Given the description of an element on the screen output the (x, y) to click on. 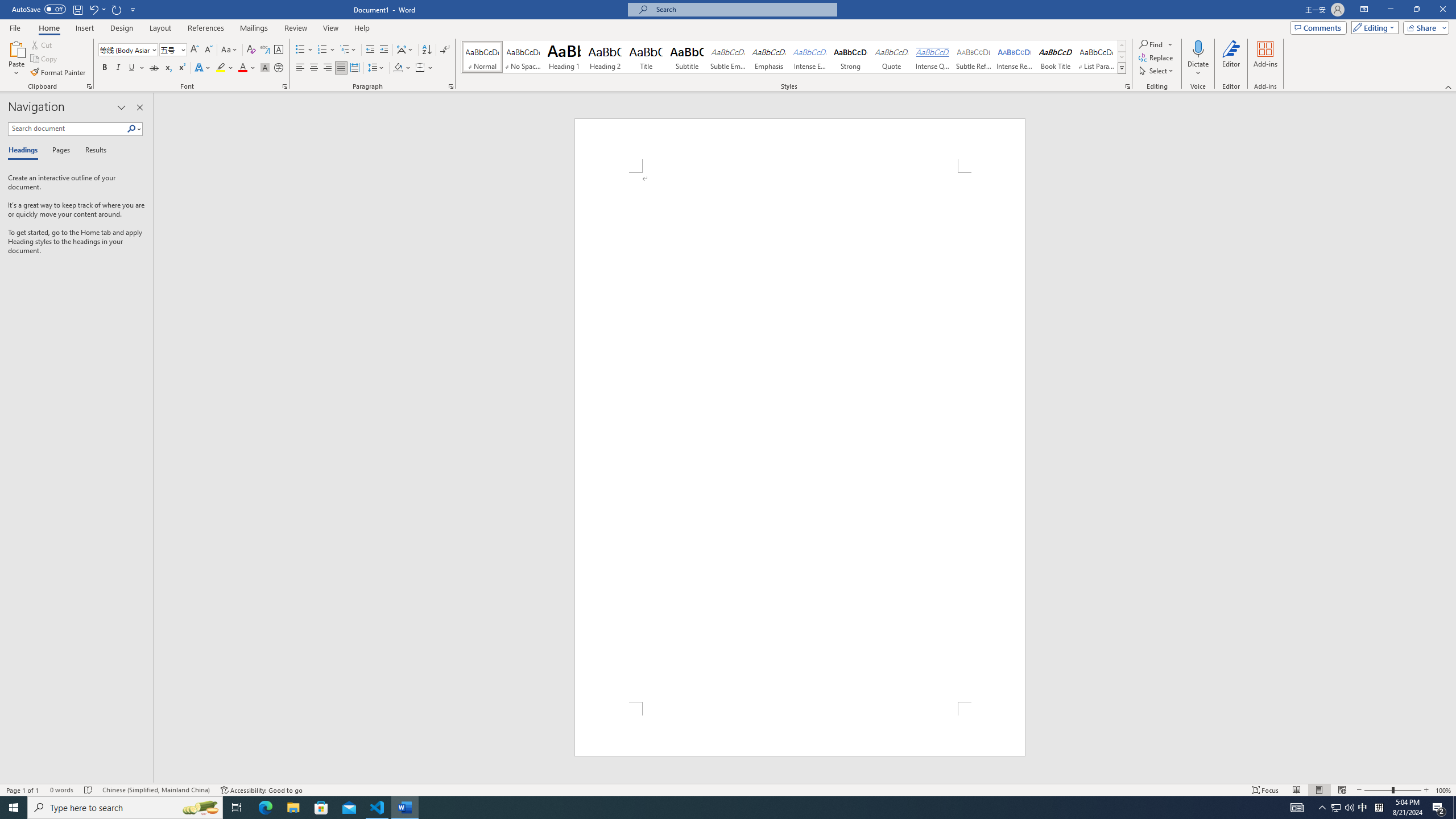
Spelling and Grammar Check No Errors (88, 790)
Page 1 content (800, 436)
